Given the description of an element on the screen output the (x, y) to click on. 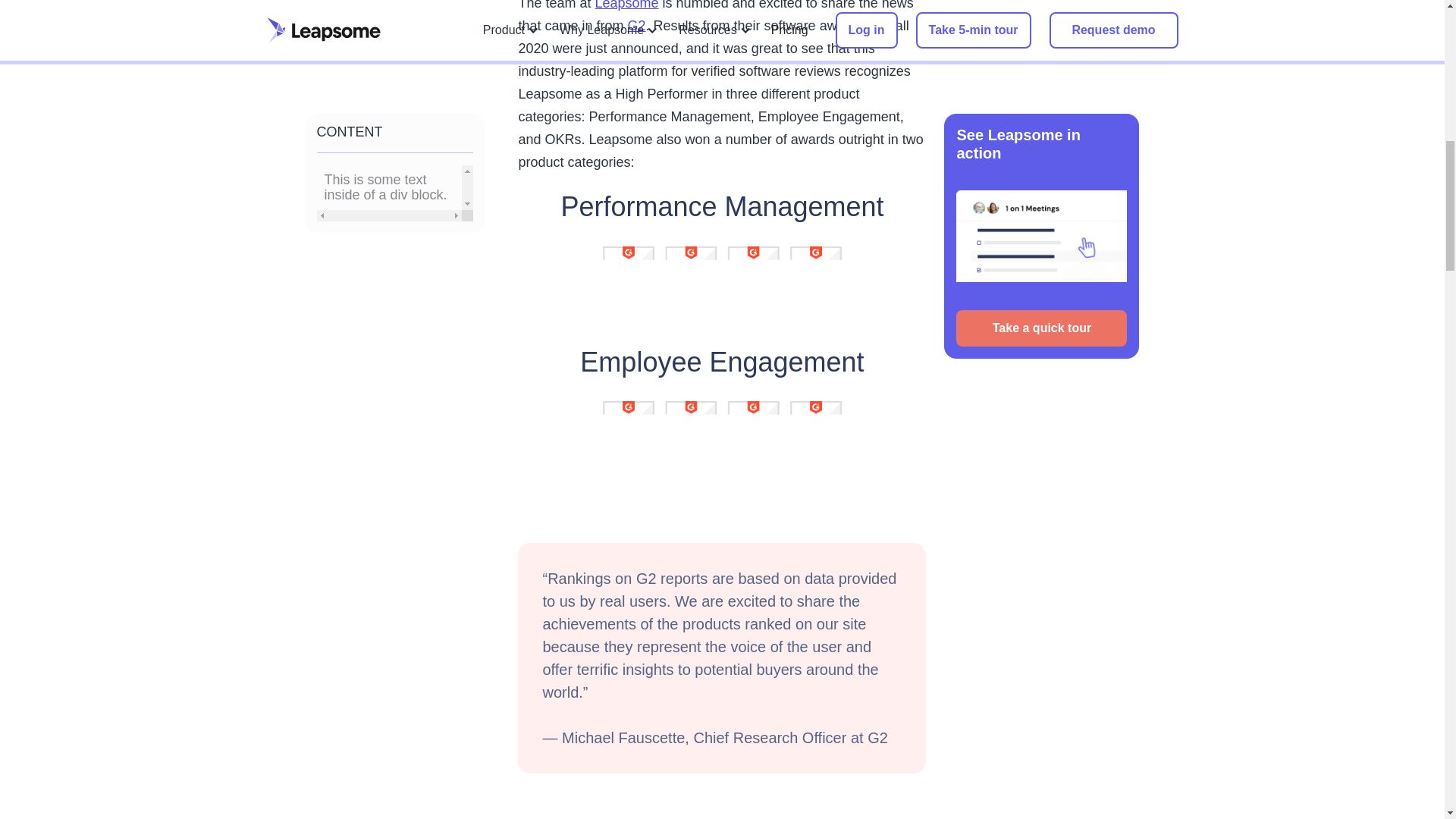
Leapsome (627, 5)
G2 (636, 25)
This is some text inside of a div block. (390, 58)
